Given the description of an element on the screen output the (x, y) to click on. 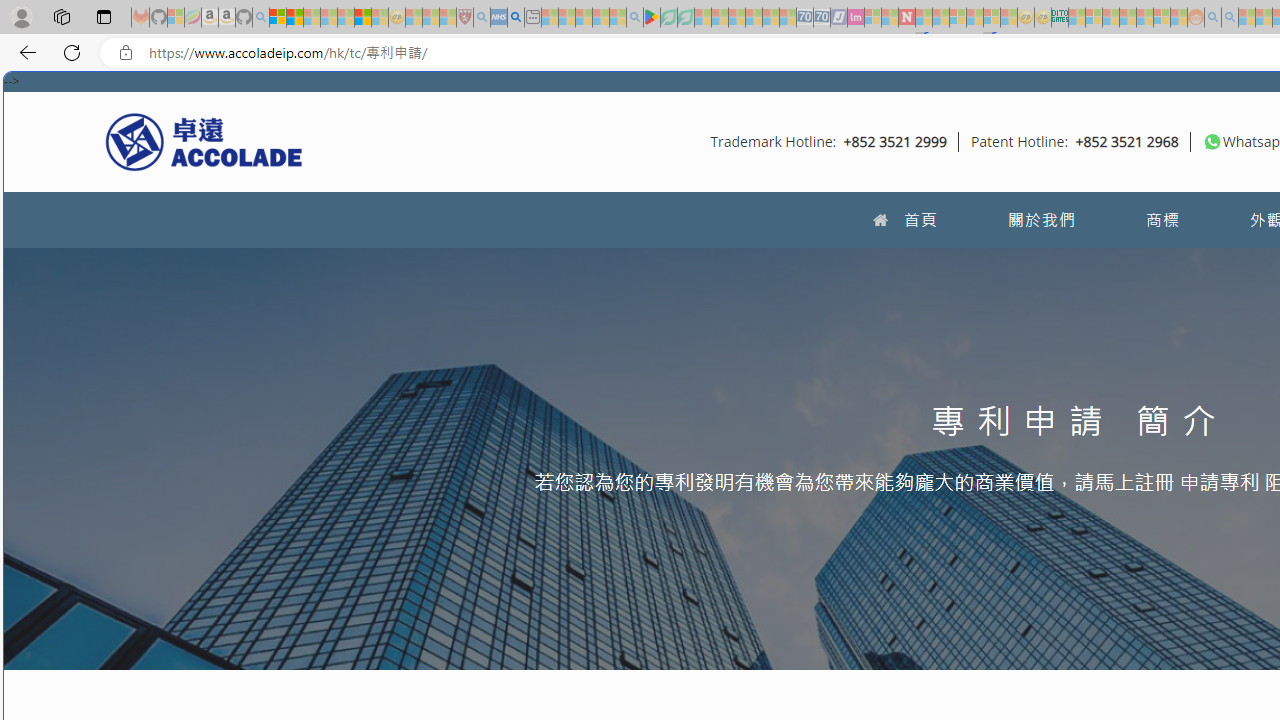
Expert Portfolios - Sleeping (1128, 17)
MSNBC - MSN - Sleeping (1076, 17)
Local - MSN - Sleeping (447, 17)
utah sues federal government - Search (515, 17)
Pets - MSN - Sleeping (600, 17)
Terms of Use Agreement - Sleeping (668, 17)
google - Search - Sleeping (634, 17)
